Given the description of an element on the screen output the (x, y) to click on. 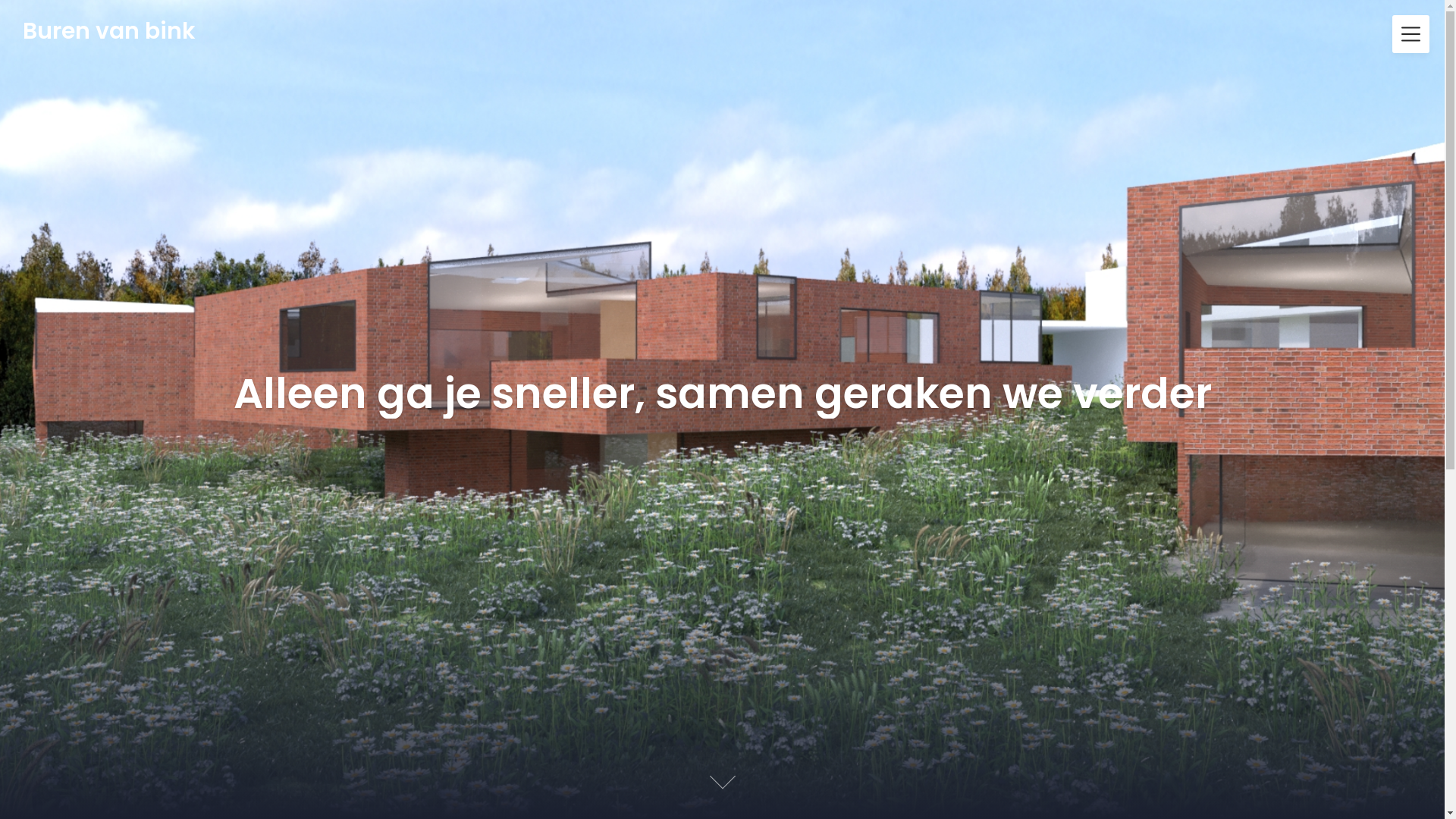
Buren van bink Element type: text (109, 31)
